Given the description of an element on the screen output the (x, y) to click on. 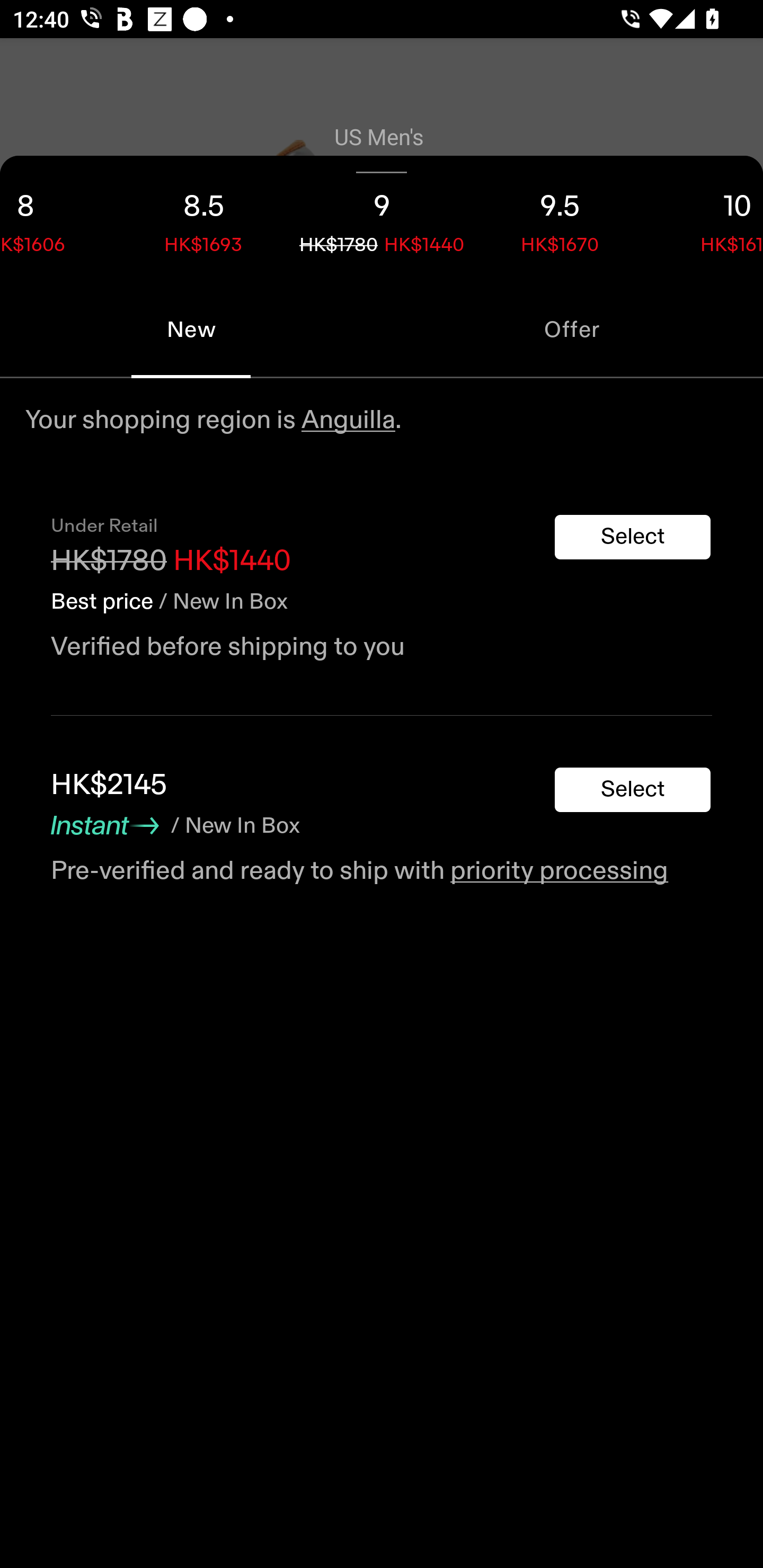
8 HK$1606 (57, 218)
8.5 HK$1693 (203, 218)
9 HK$1780 HK$1440 (381, 218)
9.5 HK$1670 (559, 218)
10 HK$1614 (705, 218)
Offer (572, 329)
Select (632, 536)
HK$2145 (109, 785)
Select (632, 789)
